Given the description of an element on the screen output the (x, y) to click on. 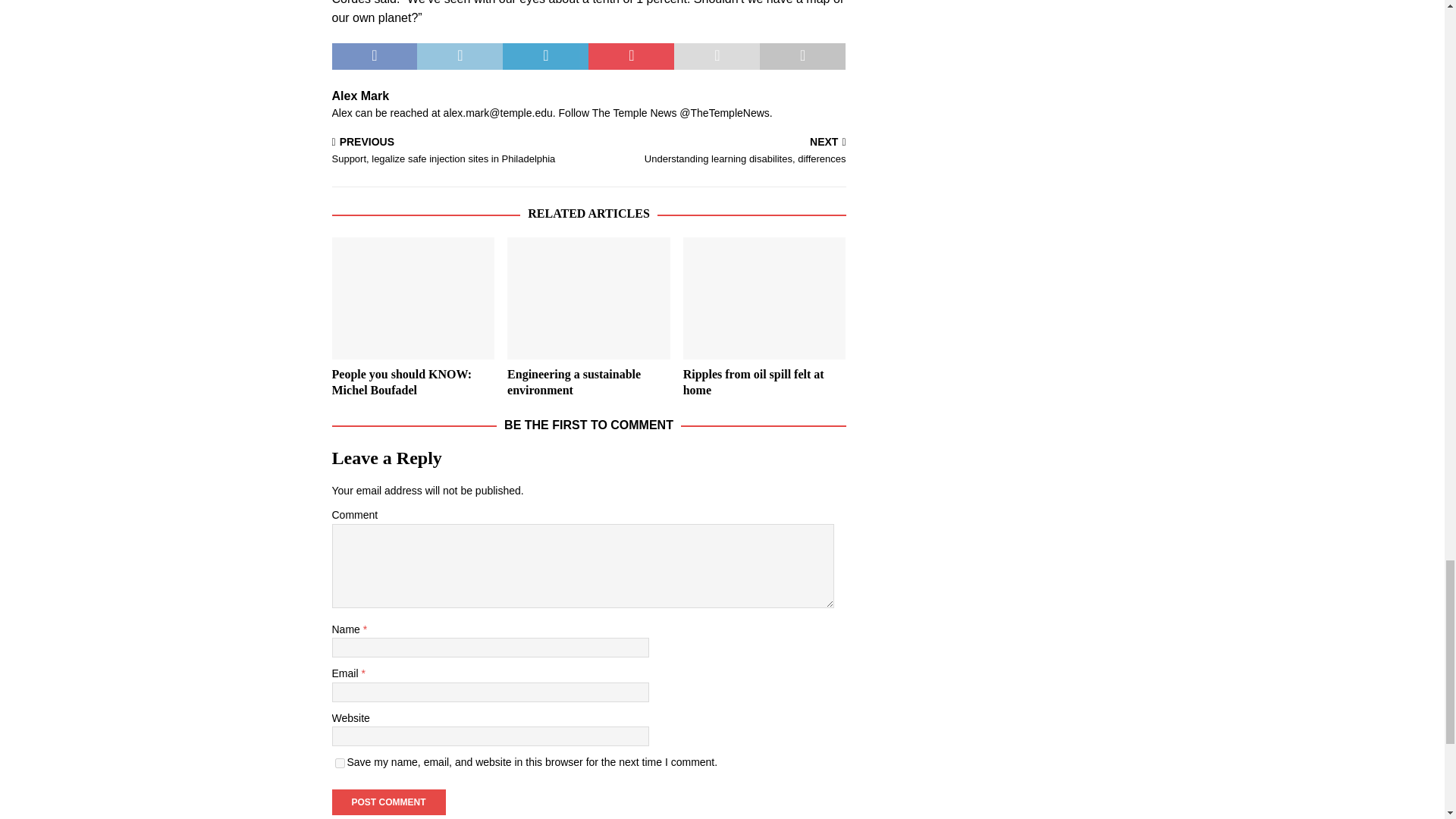
Post Comment (388, 801)
yes (339, 763)
